Given the description of an element on the screen output the (x, y) to click on. 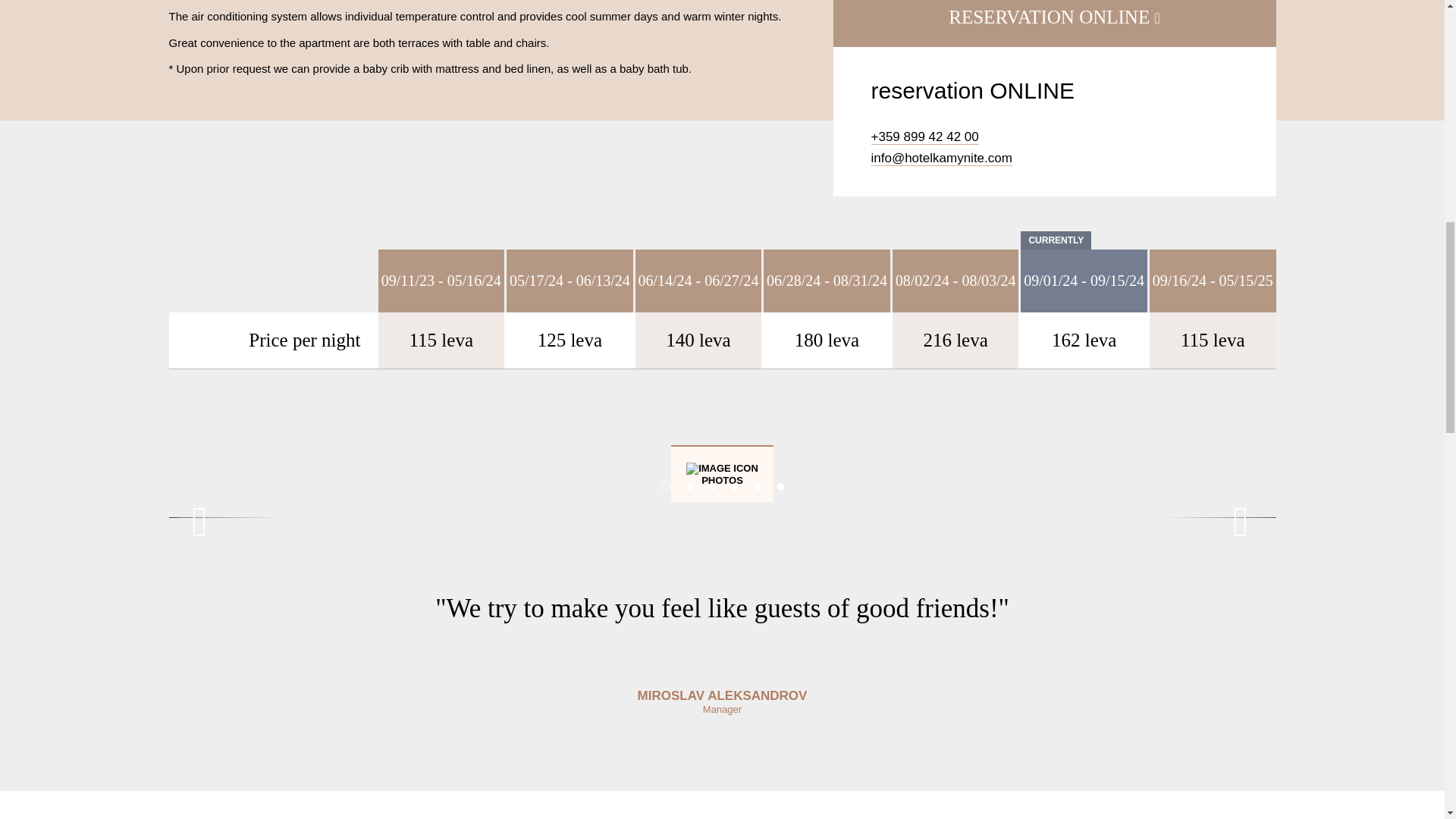
1 (665, 486)
3 (711, 486)
4 (734, 486)
2 (689, 486)
5 (757, 486)
PHOTOS (722, 473)
RESERVATION ONLINE (1053, 23)
6 (780, 486)
